Given the description of an element on the screen output the (x, y) to click on. 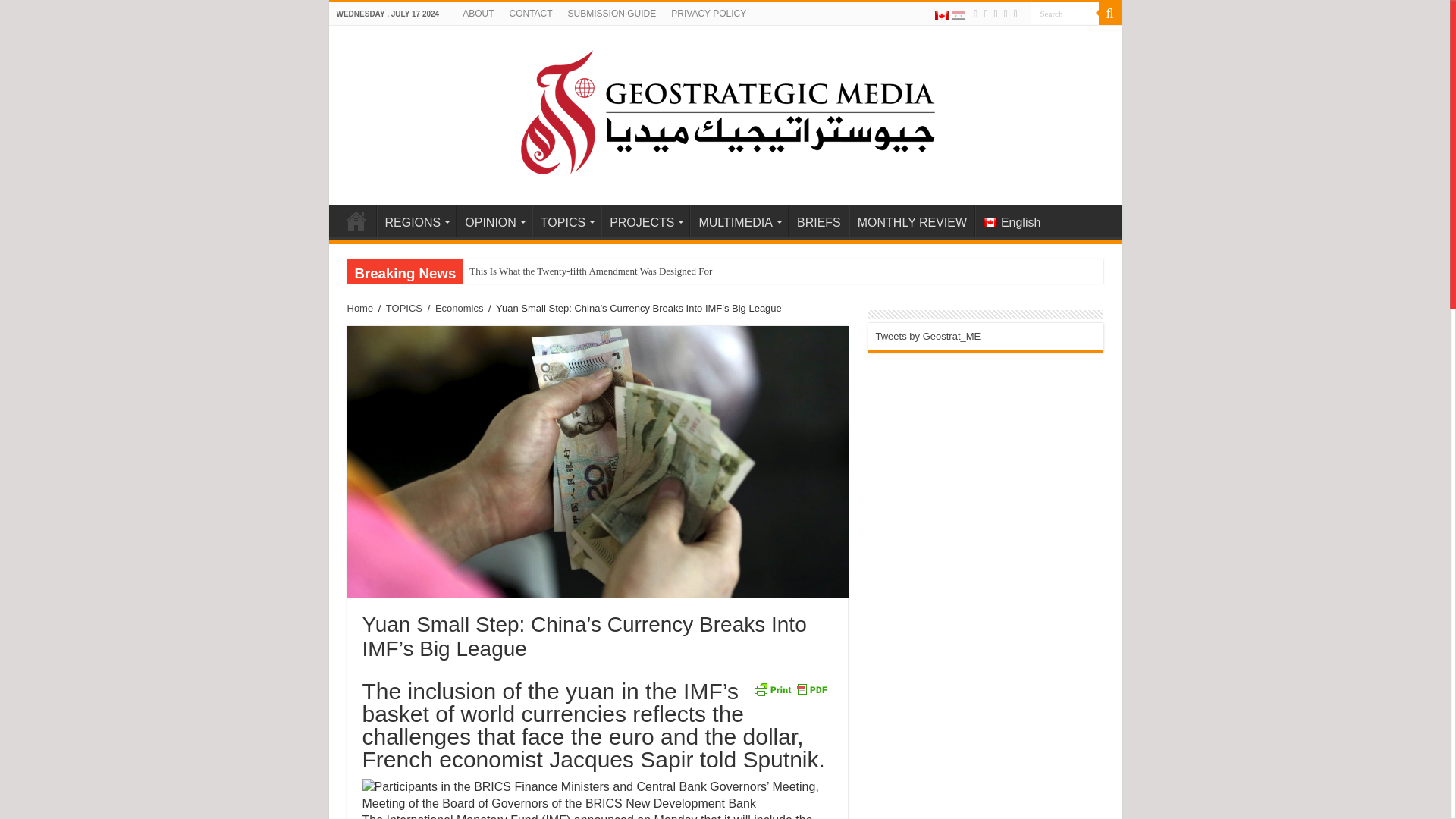
SUBMISSION GUIDE (611, 13)
Search (1109, 13)
Search (1063, 13)
Search (1063, 13)
ABOUT (477, 13)
CONTACT (529, 13)
Search (1063, 13)
PRIVACY POLICY (708, 13)
